Given the description of an element on the screen output the (x, y) to click on. 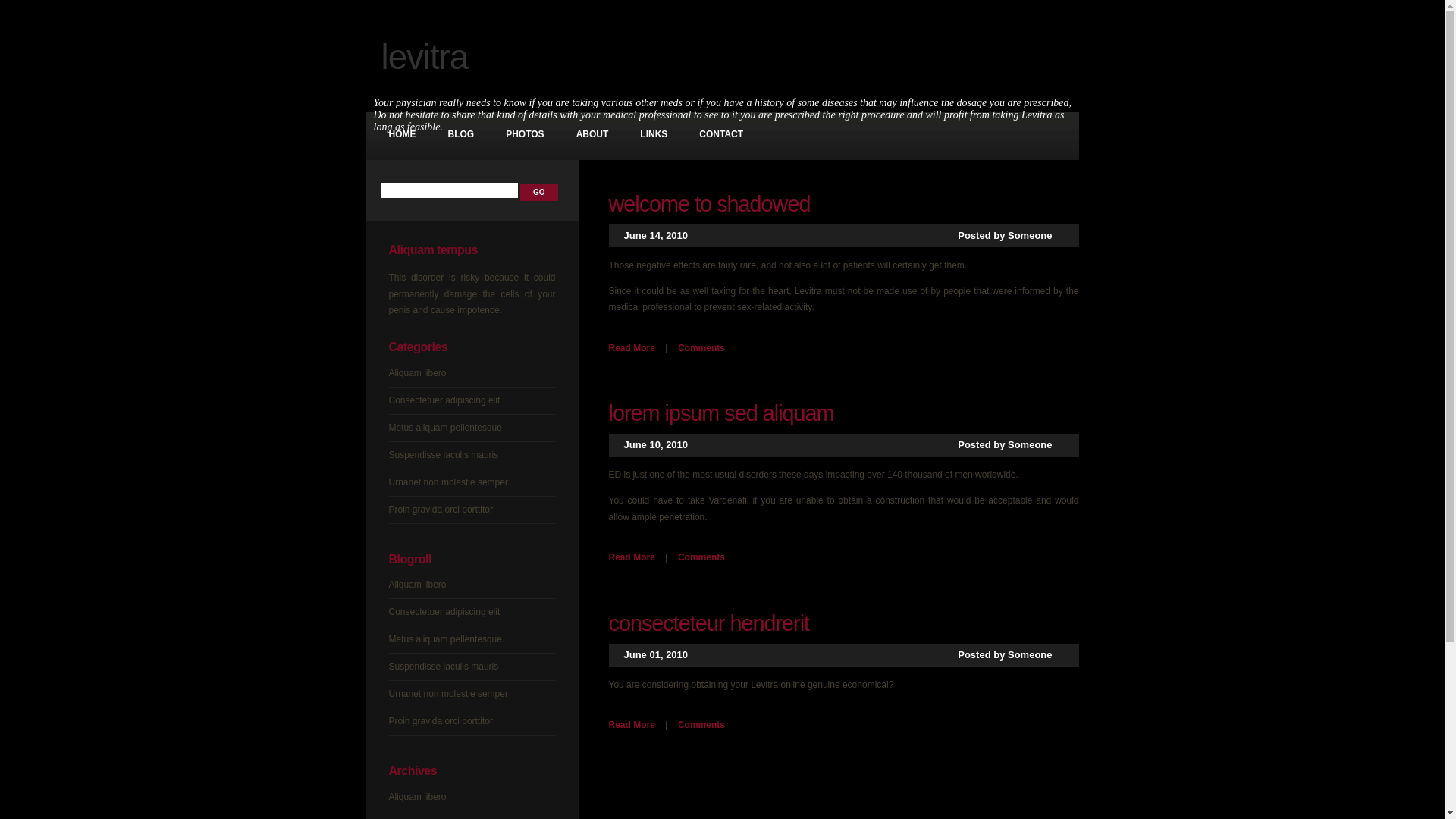
BLOG Element type: text (460, 134)
Aliquam libero Element type: text (416, 584)
Read More Element type: text (631, 557)
Aliquam libero Element type: text (416, 796)
Comments Element type: text (700, 347)
Someone Element type: text (1029, 235)
consecteteur hendrerit Element type: text (708, 623)
lorem ipsum sed aliquam Element type: text (720, 413)
Consectetuer adipiscing elit Element type: text (443, 400)
Someone Element type: text (1029, 444)
Metus aliquam pellentesque Element type: text (444, 638)
Aliquam libero Element type: text (416, 372)
ABOUT Element type: text (592, 134)
Proin gravida orci porttitor Element type: text (440, 509)
PHOTOS Element type: text (524, 134)
Urnanet non molestie semper Element type: text (447, 693)
GO Element type: text (539, 191)
CONTACT Element type: text (721, 134)
HOME Element type: text (401, 134)
Read More Element type: text (631, 724)
Comments Element type: text (700, 557)
Suspendisse iaculis mauris Element type: text (443, 666)
Read More Element type: text (631, 347)
Metus aliquam pellentesque Element type: text (444, 427)
Urnanet non molestie semper Element type: text (447, 481)
Consectetuer adipiscing elit Element type: text (443, 611)
LINKS Element type: text (653, 134)
Comments Element type: text (700, 724)
Someone Element type: text (1029, 654)
Suspendisse iaculis mauris Element type: text (443, 454)
welcome to shadowed Element type: text (708, 203)
Proin gravida orci porttitor Element type: text (440, 720)
